Given the description of an element on the screen output the (x, y) to click on. 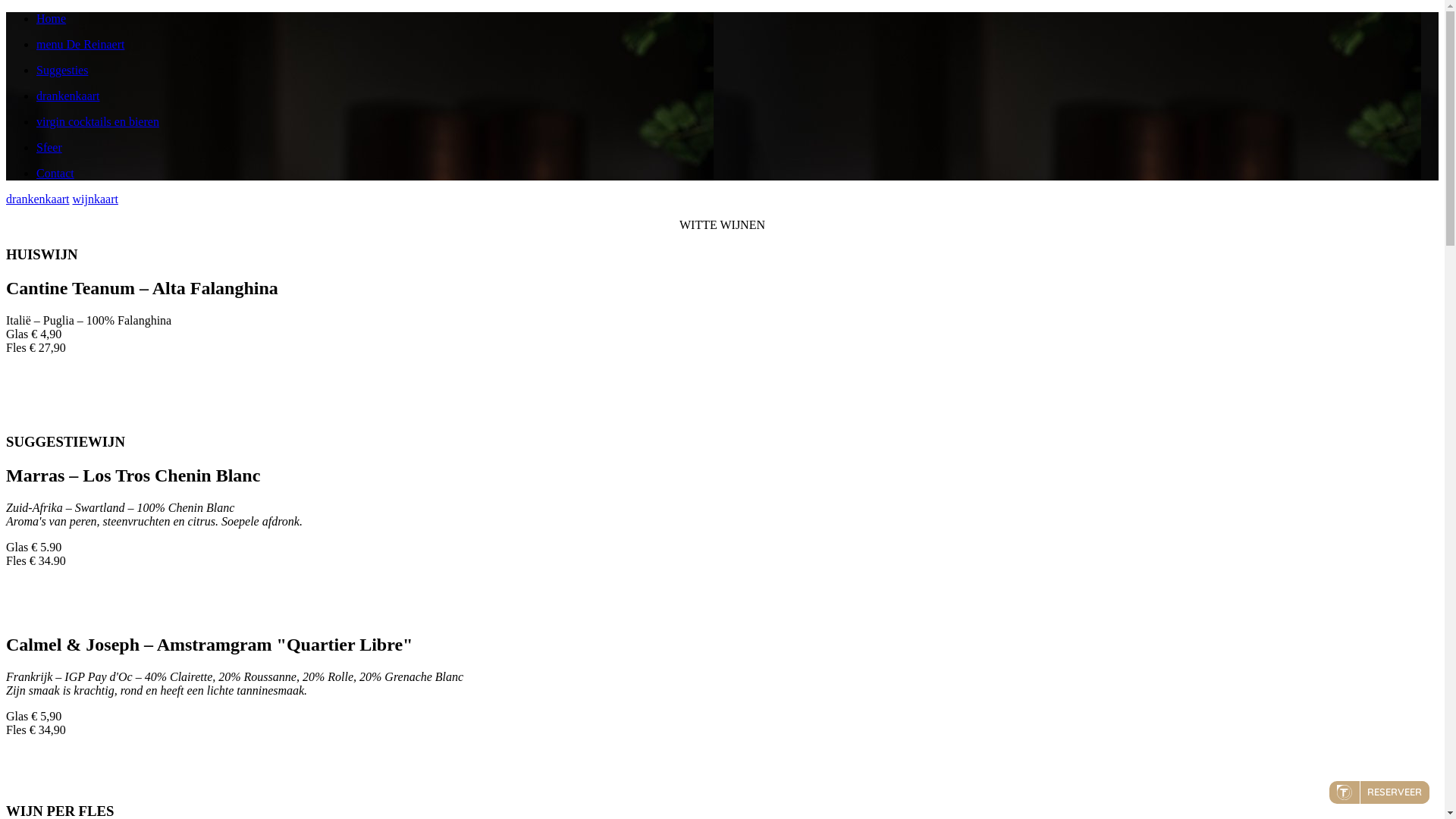
virgin cocktails en bieren Element type: text (737, 121)
drankenkaart Element type: text (37, 198)
drankenkaart Element type: text (737, 96)
wijnkaart Element type: text (95, 198)
Contact Element type: text (737, 173)
menu De Reinaert Element type: text (737, 44)
Home Element type: text (737, 18)
Suggesties Element type: text (737, 70)
Sfeer Element type: text (737, 147)
